Given the description of an element on the screen output the (x, y) to click on. 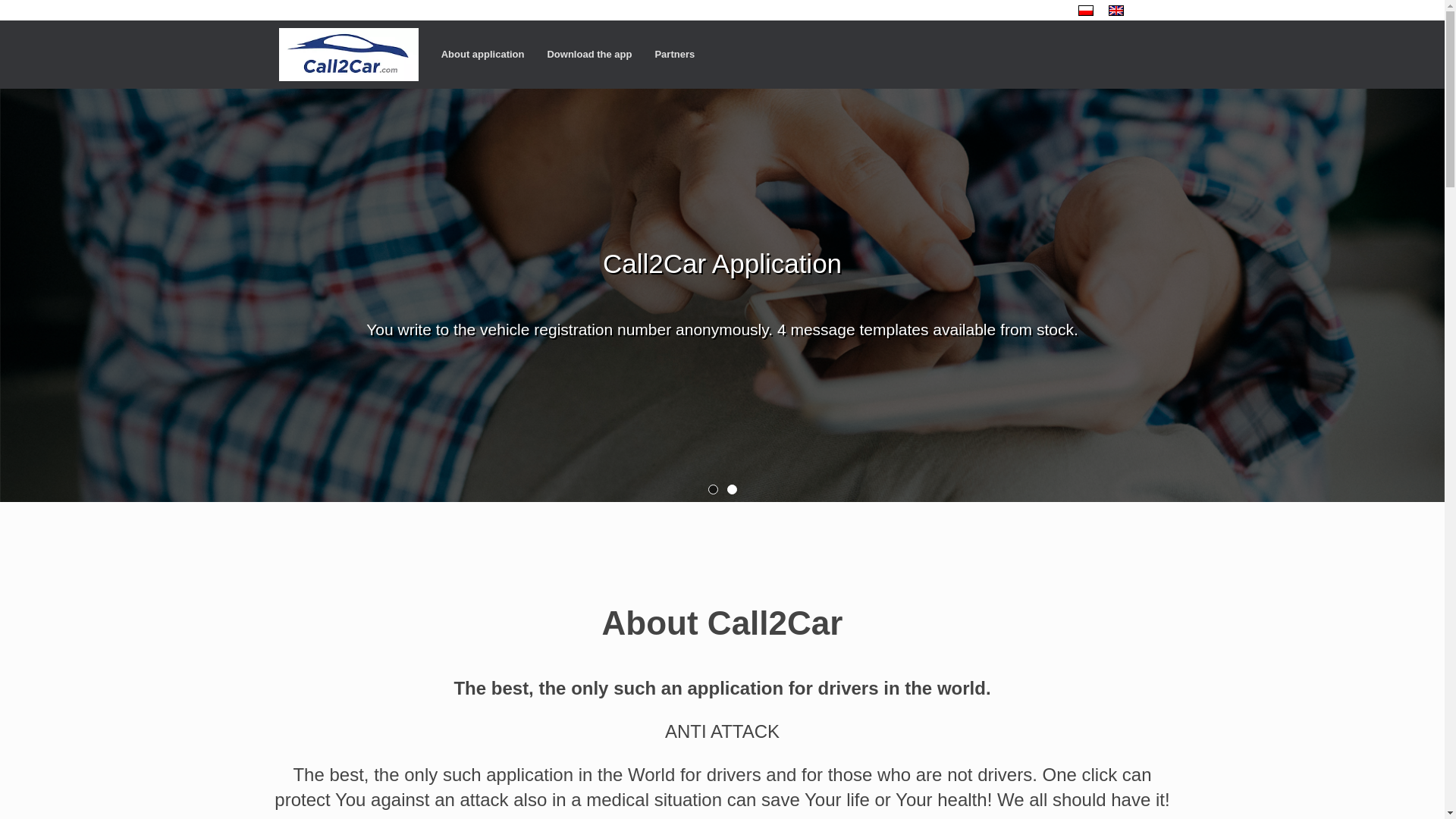
2 (731, 489)
polski (1085, 9)
1 (712, 489)
English (1116, 9)
Download the app (589, 53)
About application (482, 53)
Partners (673, 53)
